Given the description of an element on the screen output the (x, y) to click on. 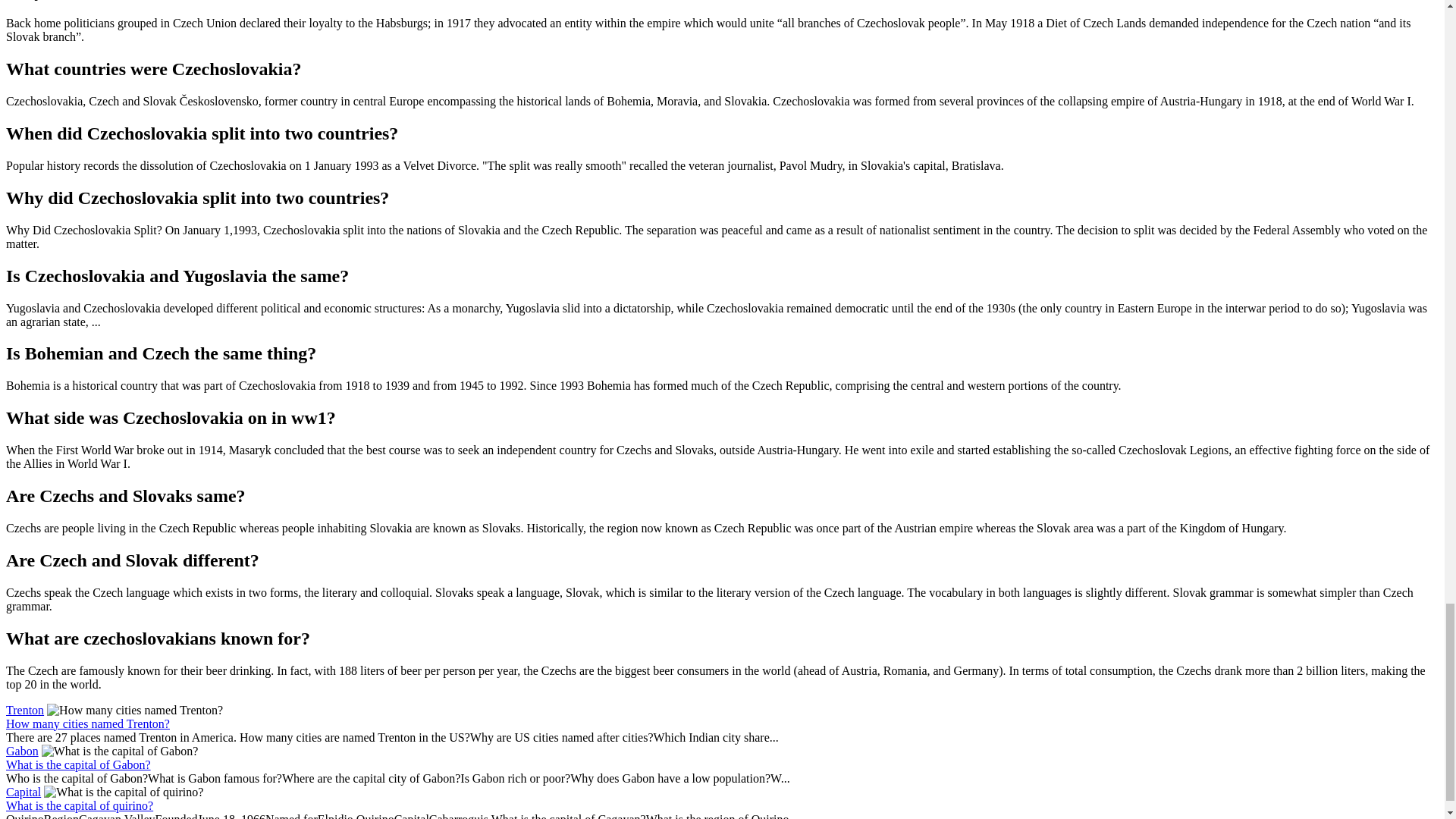
Gabon (22, 750)
How many cities named Trenton? (87, 723)
Capital (22, 791)
What is the capital of Gabon? (78, 764)
Trenton (24, 709)
